Given the description of an element on the screen output the (x, y) to click on. 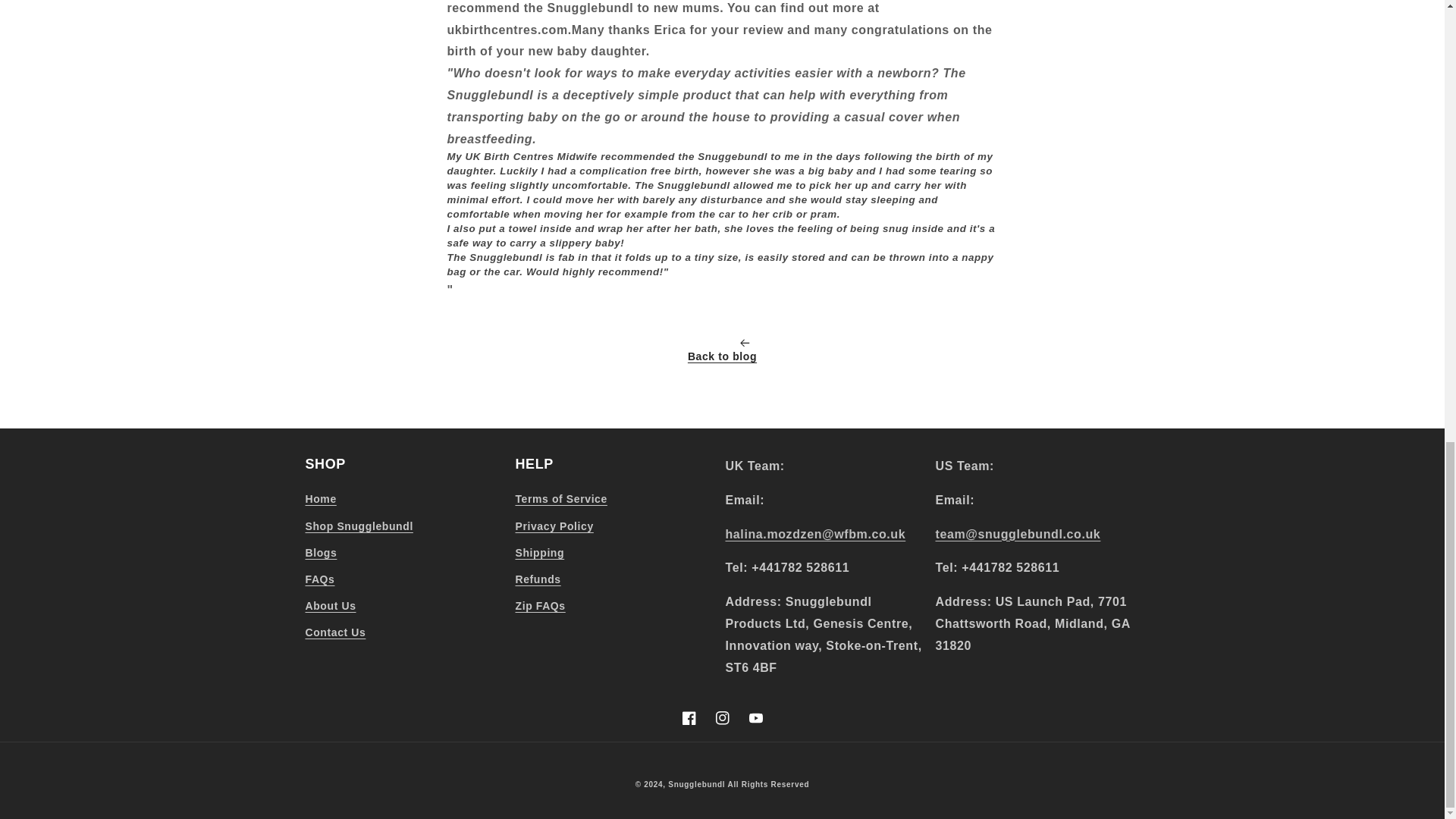
Shipping (539, 552)
Home (320, 500)
Shop Snugglebundl (358, 526)
About Us (329, 605)
Refunds (537, 579)
Contact Us (334, 632)
Back to blog (722, 352)
Blogs (320, 552)
FAQs (319, 579)
Terms of Service (561, 500)
Privacy Policy (554, 526)
Zip FAQs (540, 605)
